Given the description of an element on the screen output the (x, y) to click on. 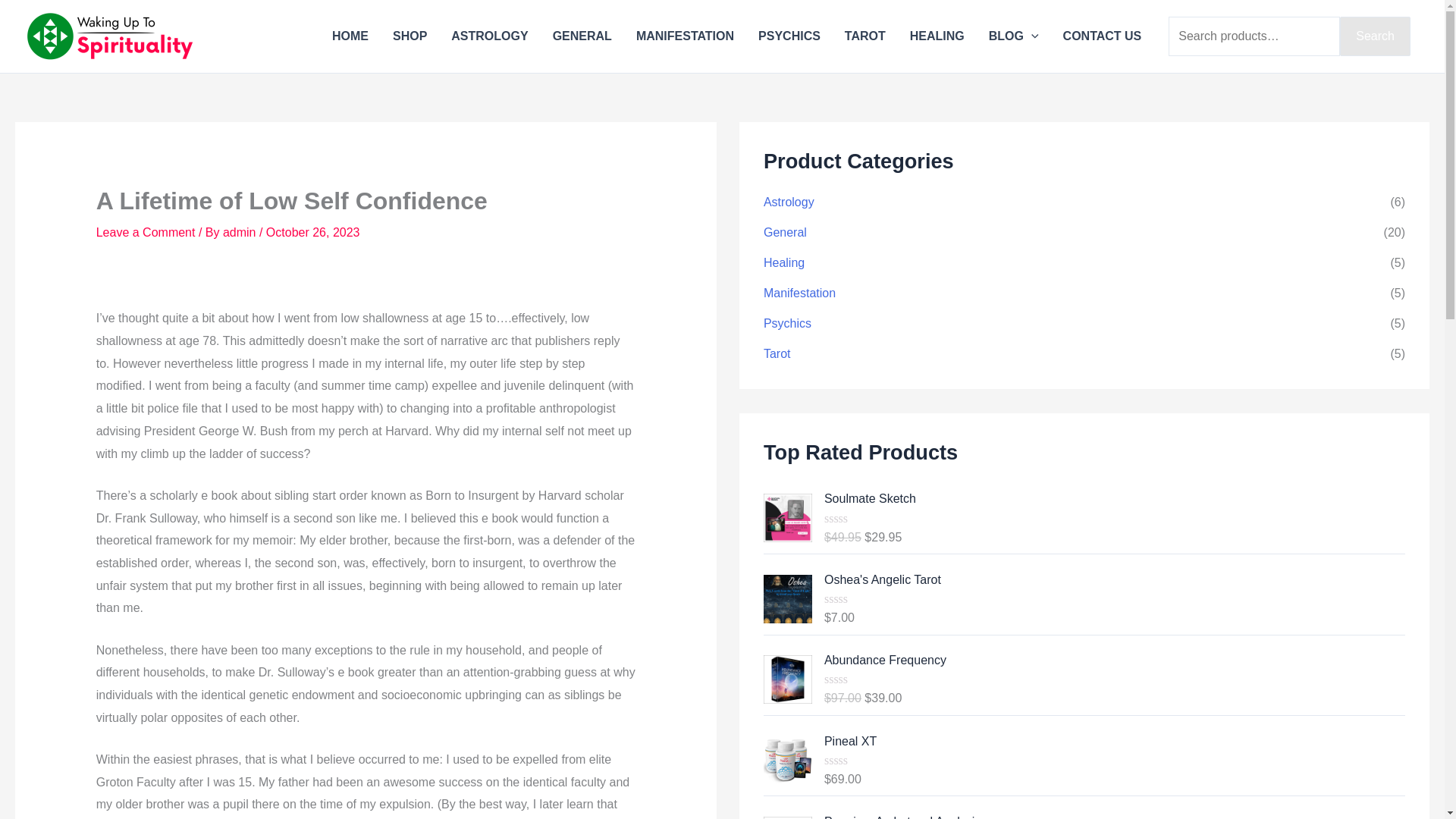
HEALING (937, 35)
GENERAL (582, 35)
BLOG (1013, 35)
TAROT (865, 35)
ASTROLOGY (489, 35)
MANIFESTATION (684, 35)
admin (240, 232)
SHOP (409, 35)
Search (1374, 36)
PSYCHICS (788, 35)
View all posts by admin (240, 232)
CONTACT US (1102, 35)
HOME (350, 35)
Leave a Comment (145, 232)
